Given the description of an element on the screen output the (x, y) to click on. 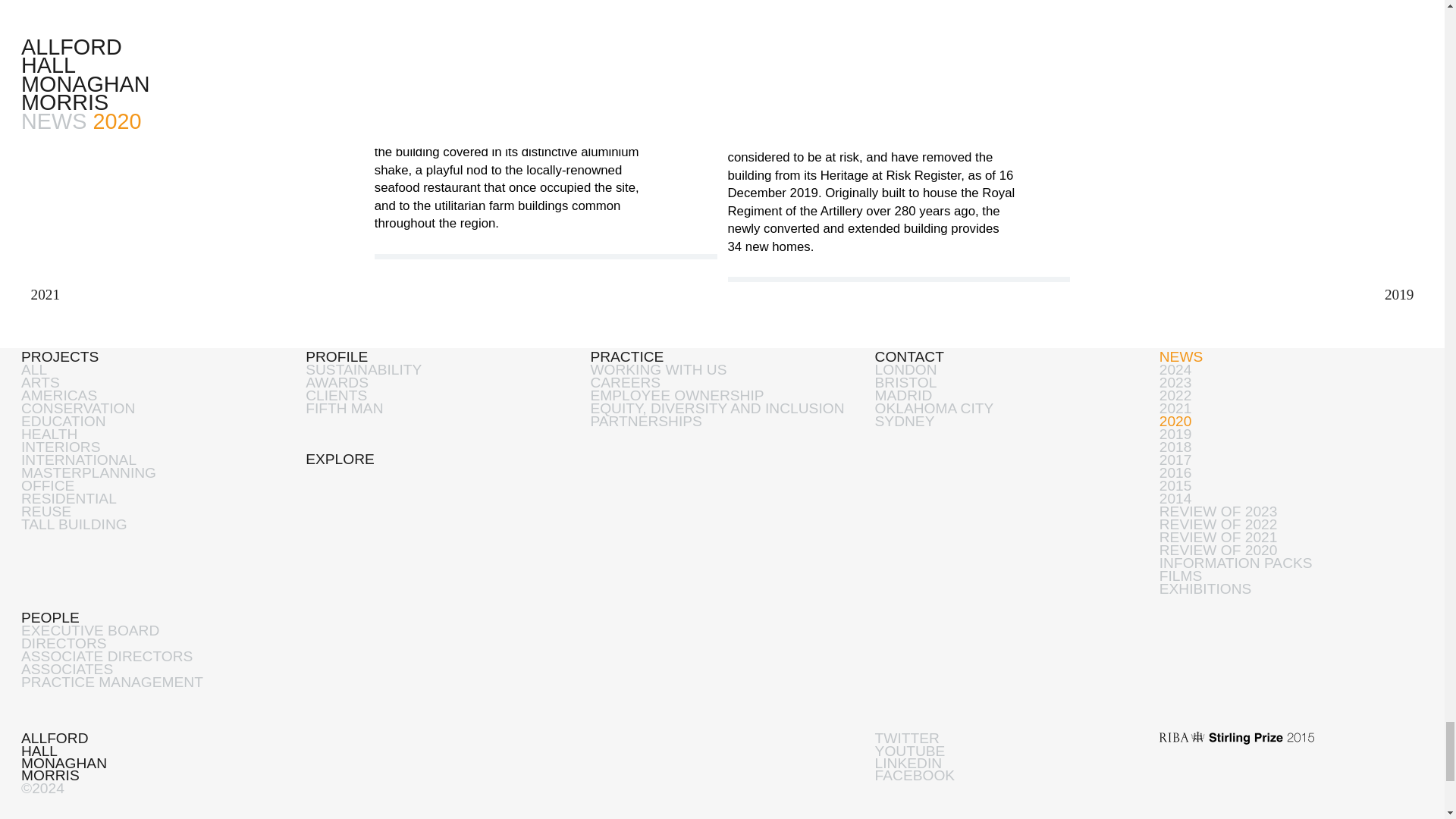
2021 (41, 294)
2019 (1402, 294)
